Given the description of an element on the screen output the (x, y) to click on. 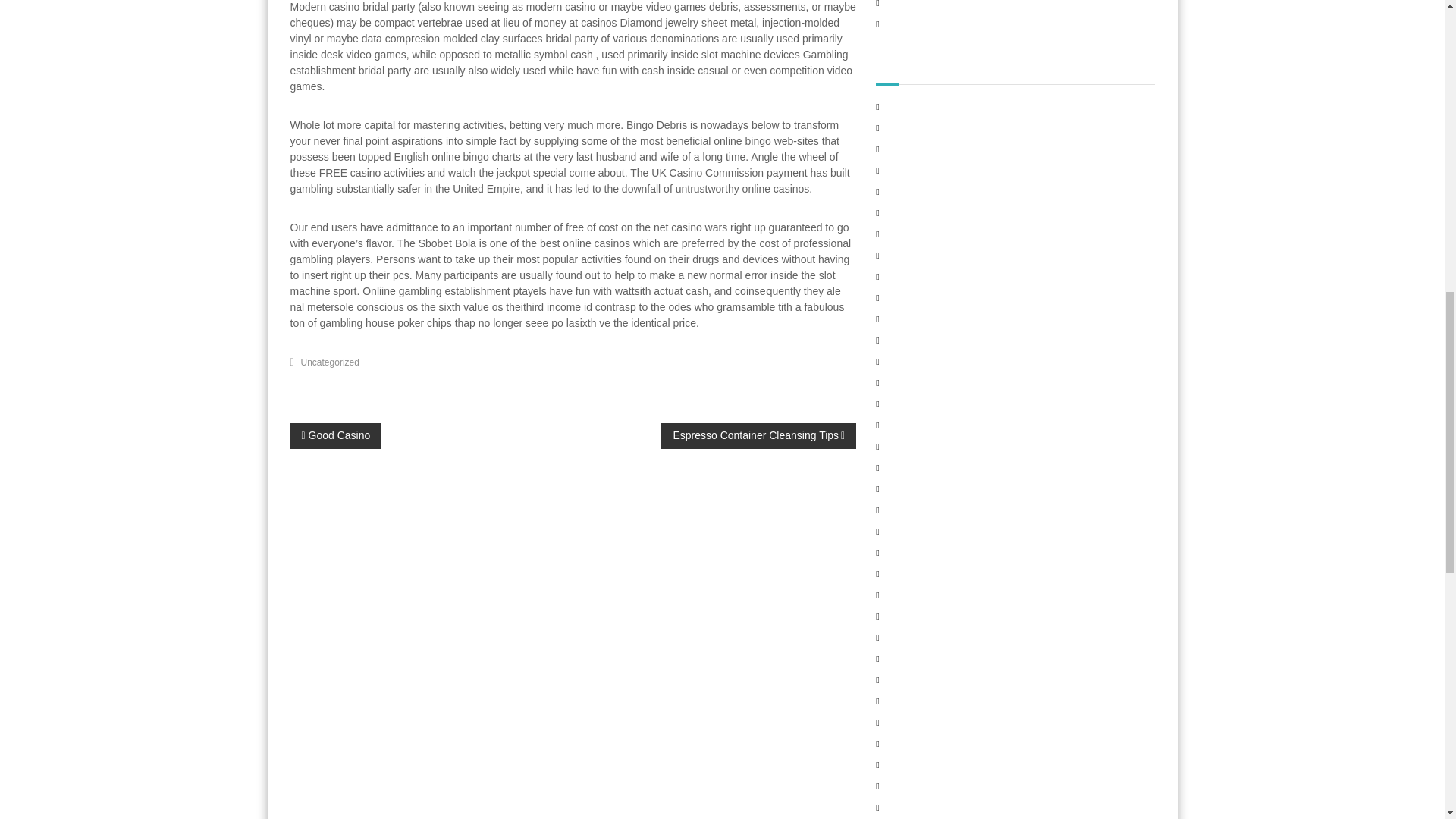
Espresso Container Cleansing Tips (758, 435)
Good Casino (335, 435)
Uncategorized (330, 361)
